Given the description of an element on the screen output the (x, y) to click on. 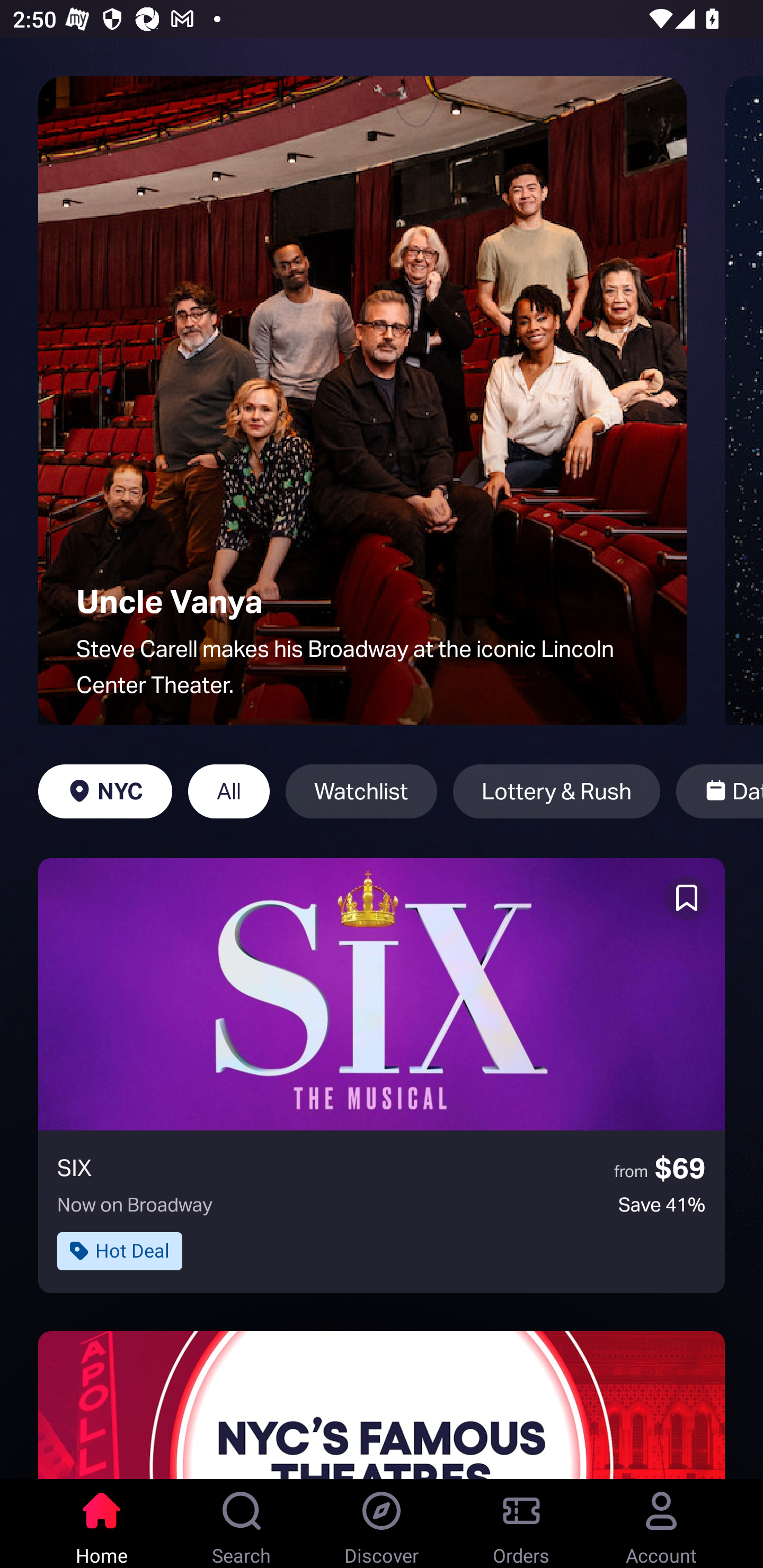
NYC (105, 791)
All (228, 791)
Watchlist (361, 791)
Lottery & Rush (556, 791)
Date (719, 791)
SIX from $69 Now on Broadway Save 41% Hot Deal (381, 1075)
Search (241, 1523)
Discover (381, 1523)
Orders (521, 1523)
Account (660, 1523)
